Given the description of an element on the screen output the (x, y) to click on. 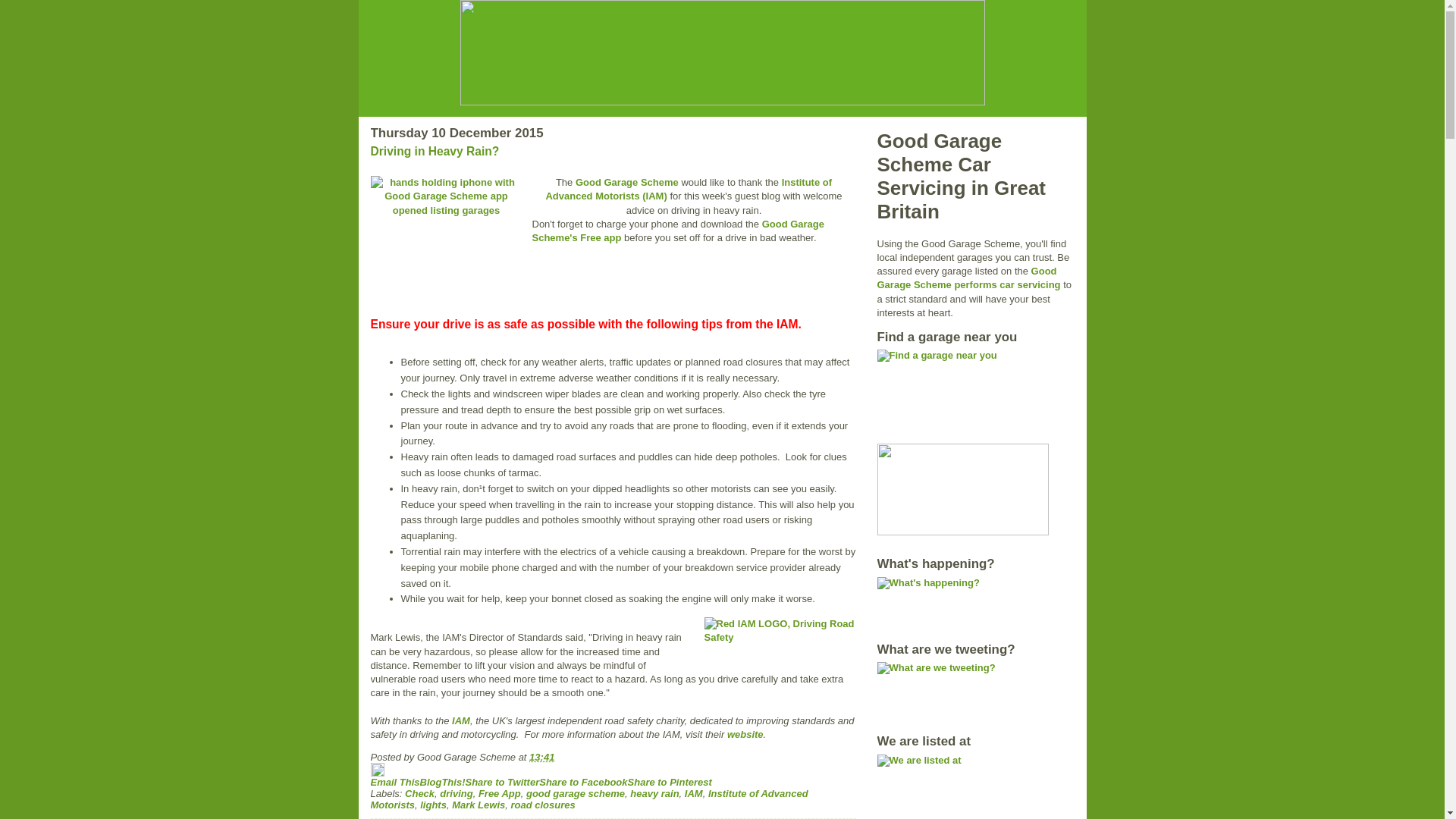
road closures (543, 804)
lights (433, 804)
13:41 (541, 756)
Check (418, 793)
Share to Pinterest (669, 781)
Share to Facebook (582, 781)
IAM (693, 793)
IAM (460, 719)
heavy rain (654, 793)
Share to Twitter (501, 781)
Mark Lewis (478, 804)
Free App (500, 793)
Good Garage Scheme's Free app (678, 230)
Institute of Advanced Motorists (588, 798)
BlogThis! (442, 781)
